Given the description of an element on the screen output the (x, y) to click on. 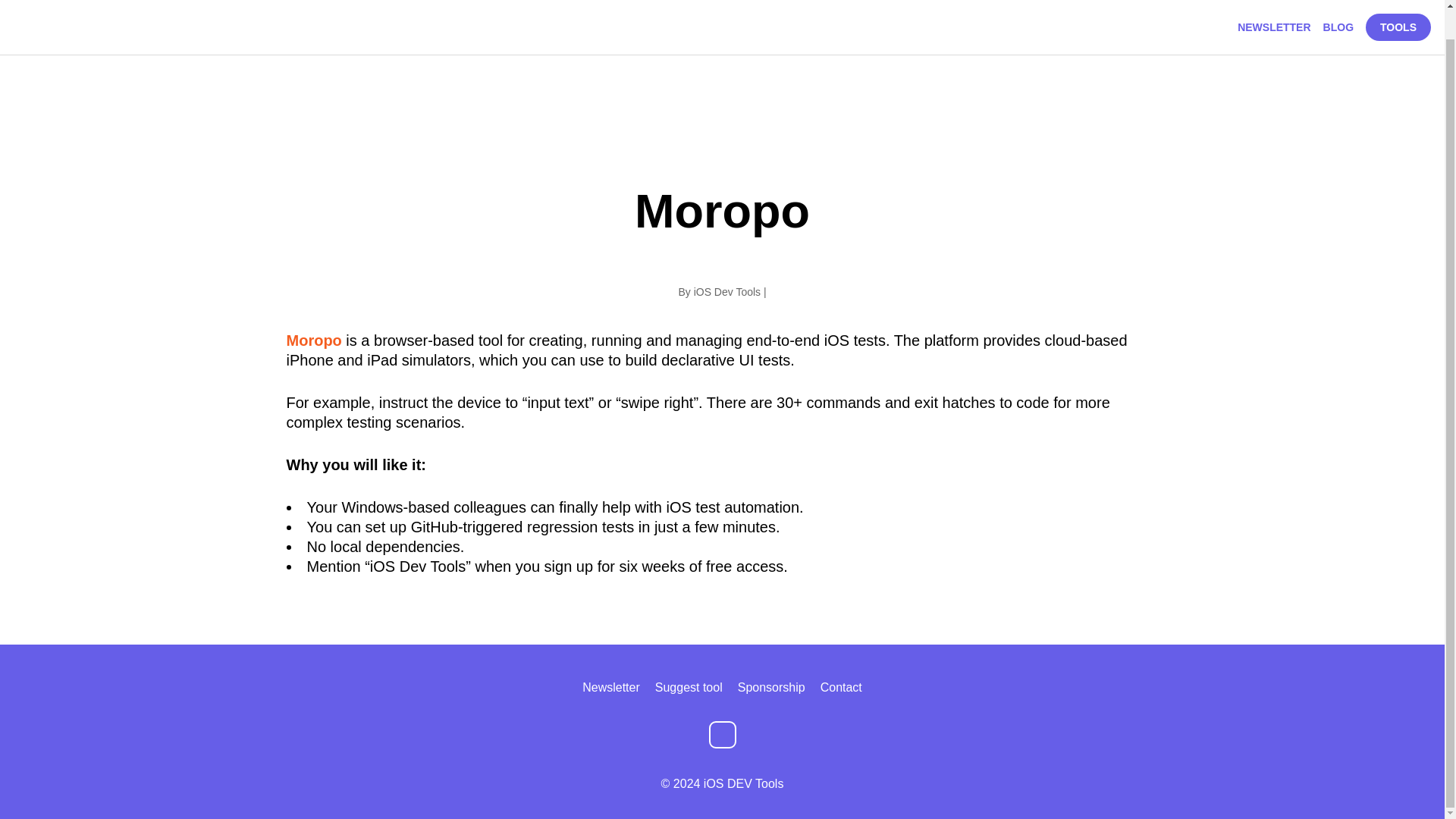
Contact (841, 686)
BLOG (1338, 2)
Moropo (314, 340)
Newsletter (611, 686)
Sponsorship (771, 686)
Contact (841, 686)
Newsletter (611, 686)
Suggest tool (688, 686)
Sponsorship (771, 686)
Tools (1398, 5)
